Given the description of an element on the screen output the (x, y) to click on. 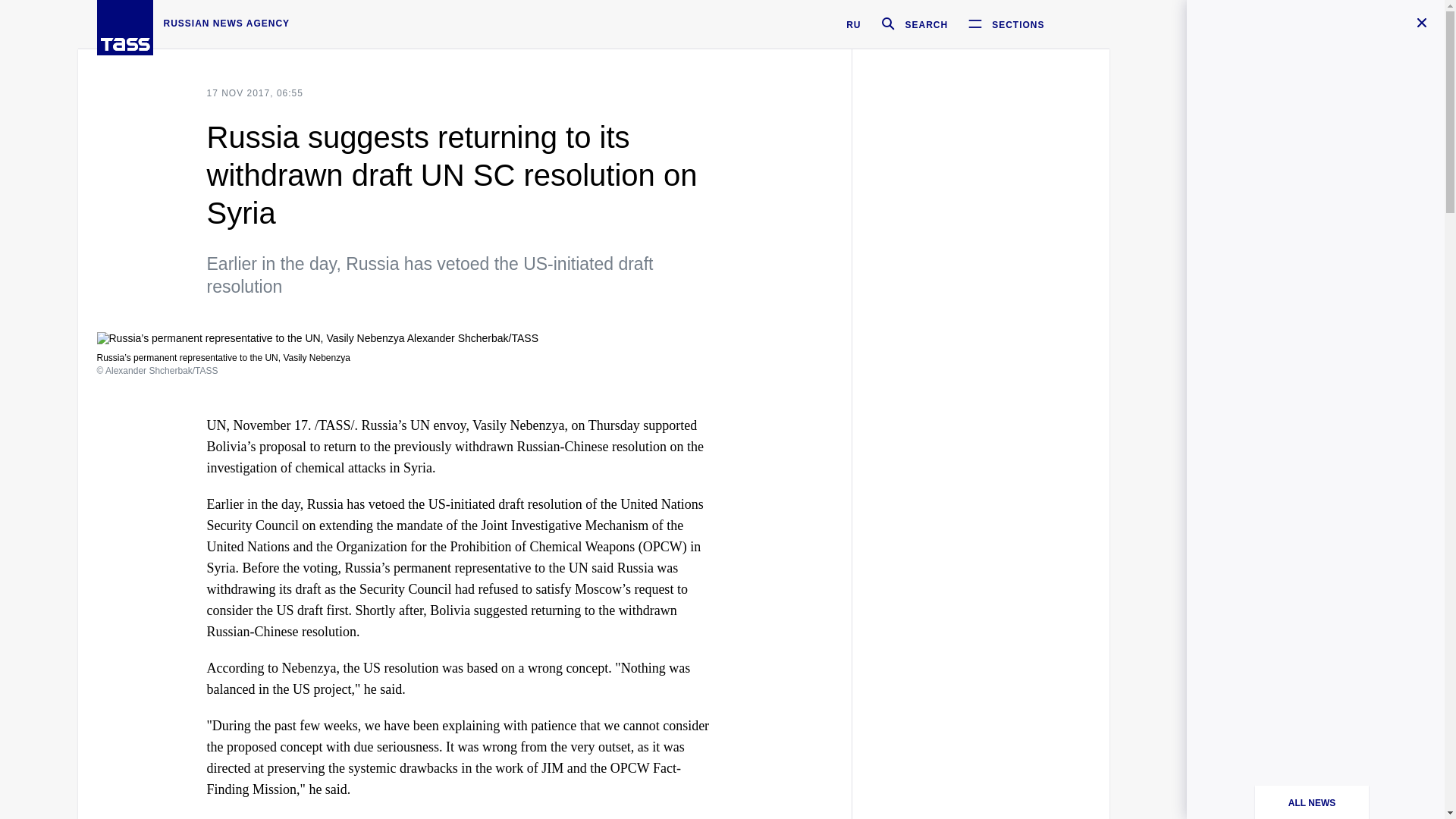
RU (852, 24)
SEARCH (908, 24)
